Given the description of an element on the screen output the (x, y) to click on. 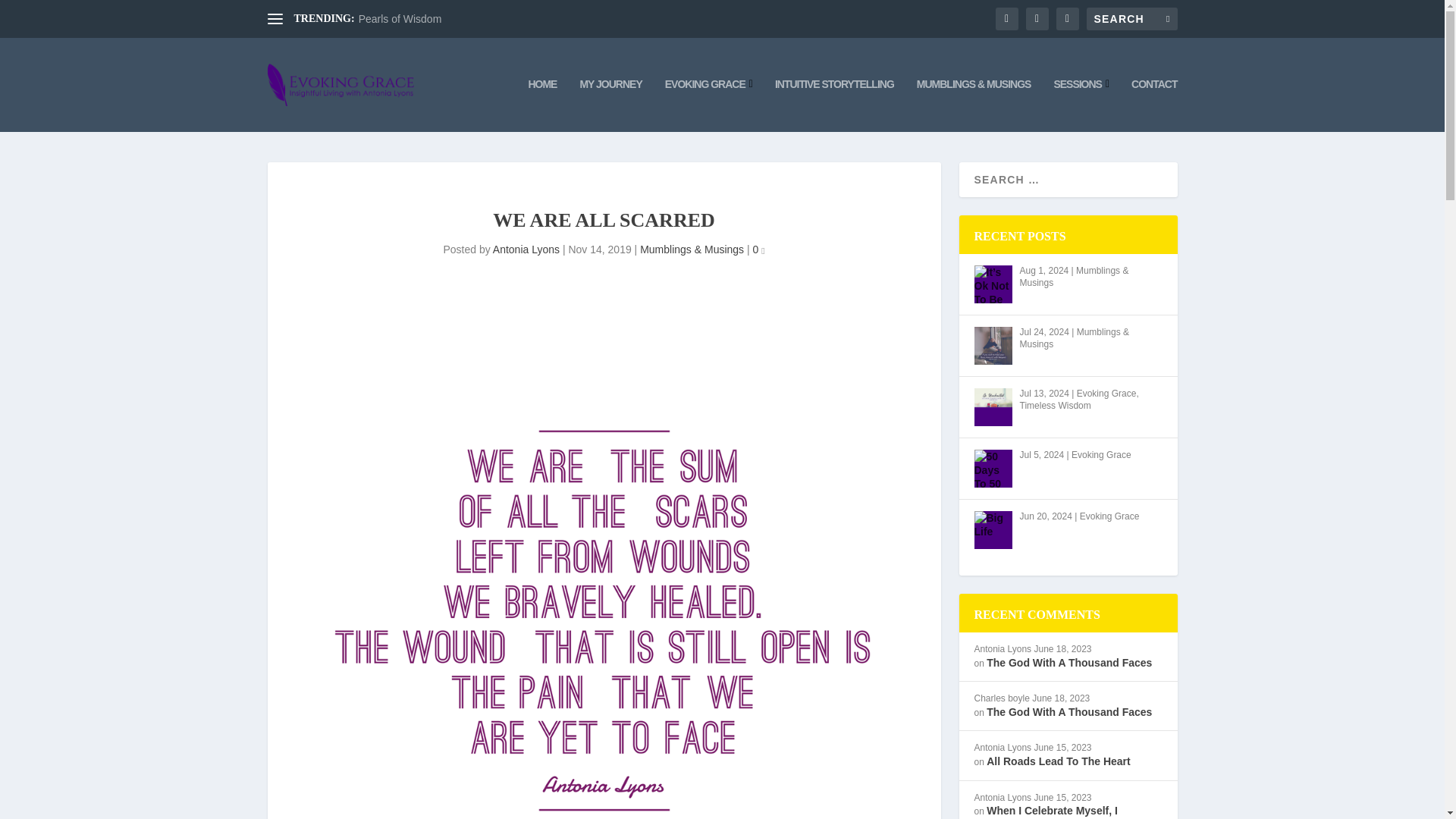
Posts by Antonia Lyons (526, 249)
INTUITIVE STORYTELLING (833, 104)
Antonia Lyons (526, 249)
SESSIONS (1080, 104)
Pearls of Wisdom (400, 19)
0 (758, 249)
EVOKING GRACE (708, 104)
Search for: (1131, 18)
MY JOURNEY (610, 104)
